Given the description of an element on the screen output the (x, y) to click on. 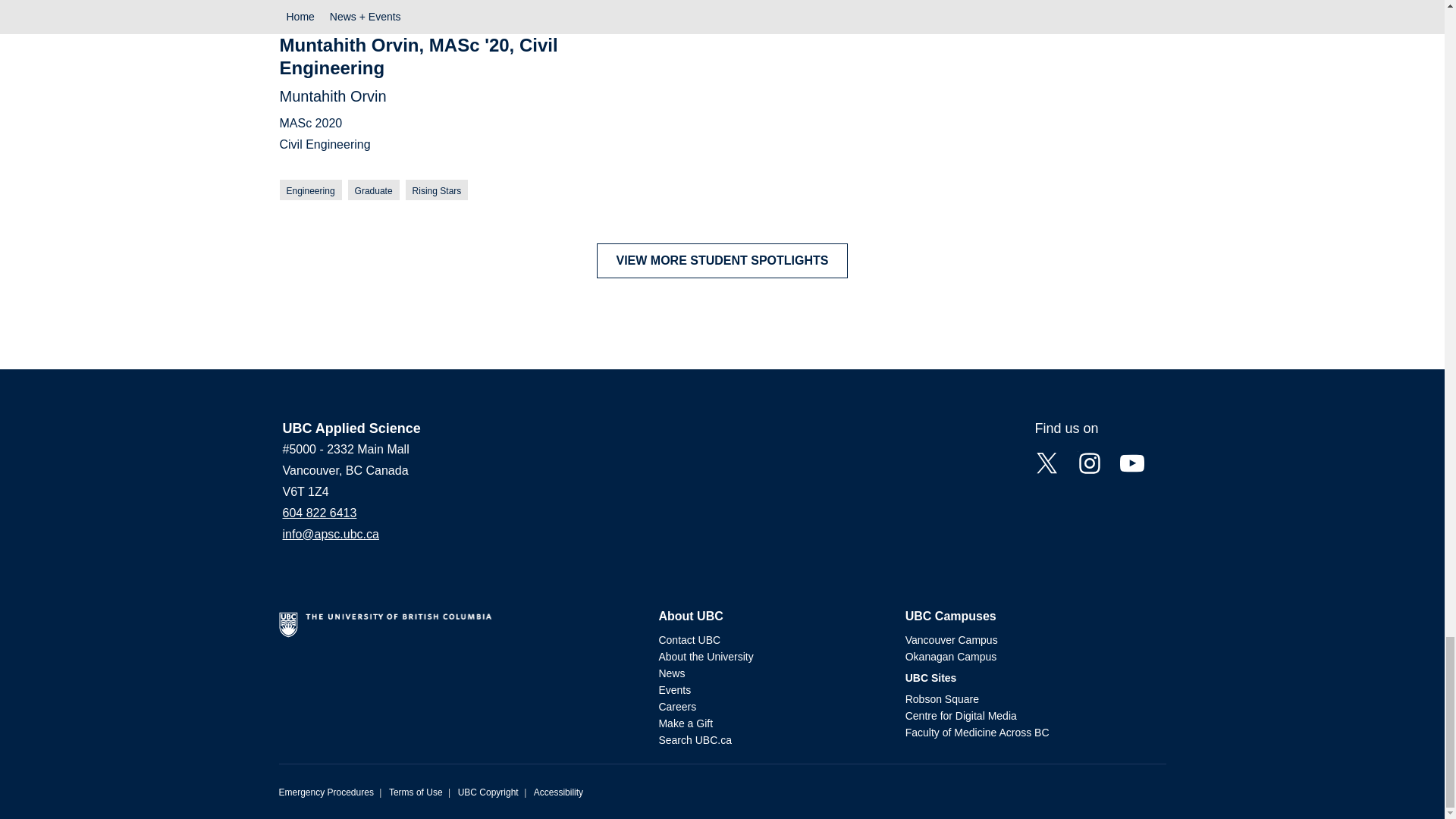
Graduate (372, 189)
Engineering (309, 189)
